Given the description of an element on the screen output the (x, y) to click on. 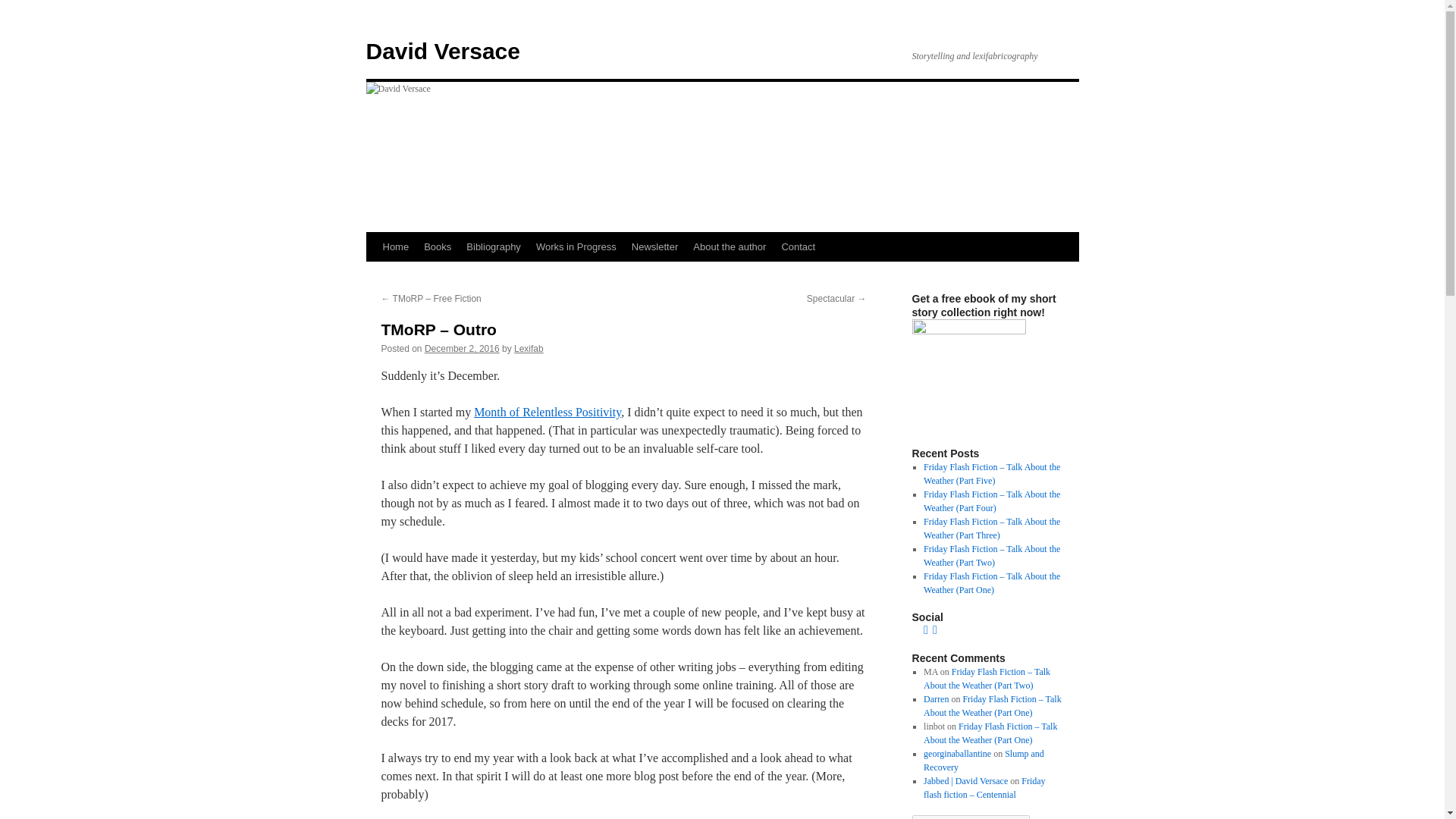
Home (395, 246)
Lexifab (528, 348)
View all posts by Lexifab (528, 348)
Bibliography (493, 246)
12:50 am (462, 348)
Newsletter (654, 246)
December 2, 2016 (462, 348)
Works in Progress (576, 246)
Books (437, 246)
David Versace (442, 50)
About the author (729, 246)
Contact (797, 246)
Month of Relentless Positivity (547, 411)
